Given the description of an element on the screen output the (x, y) to click on. 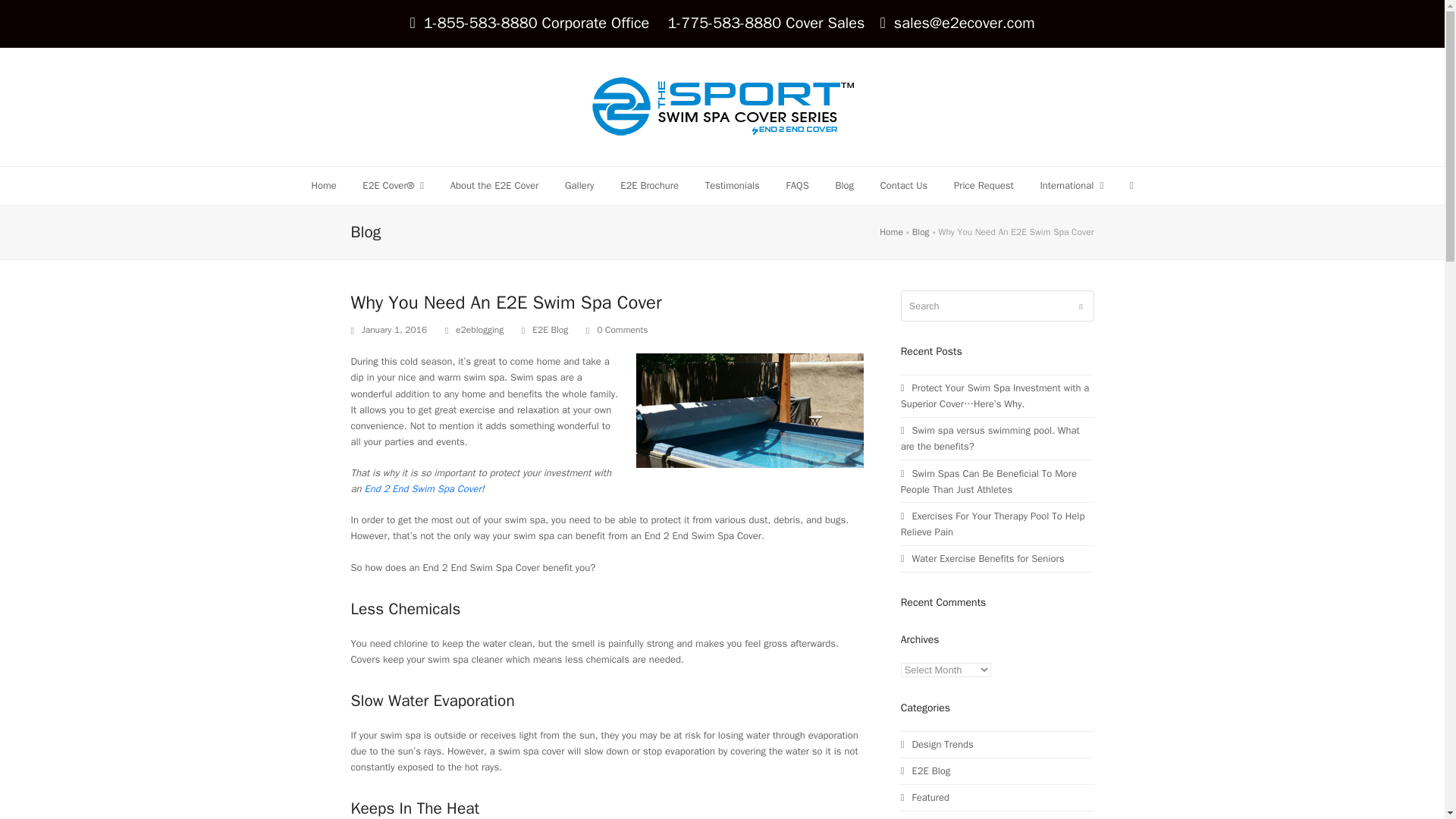
E2E Brochure (649, 185)
e2eblogging (479, 329)
Posts by e2eblogging (479, 329)
Price Request (983, 185)
Home (323, 185)
About the E2E Cover (494, 185)
E2E Blog (549, 329)
International (1071, 185)
Blog (921, 232)
0 Comments (621, 330)
